Given the description of an element on the screen output the (x, y) to click on. 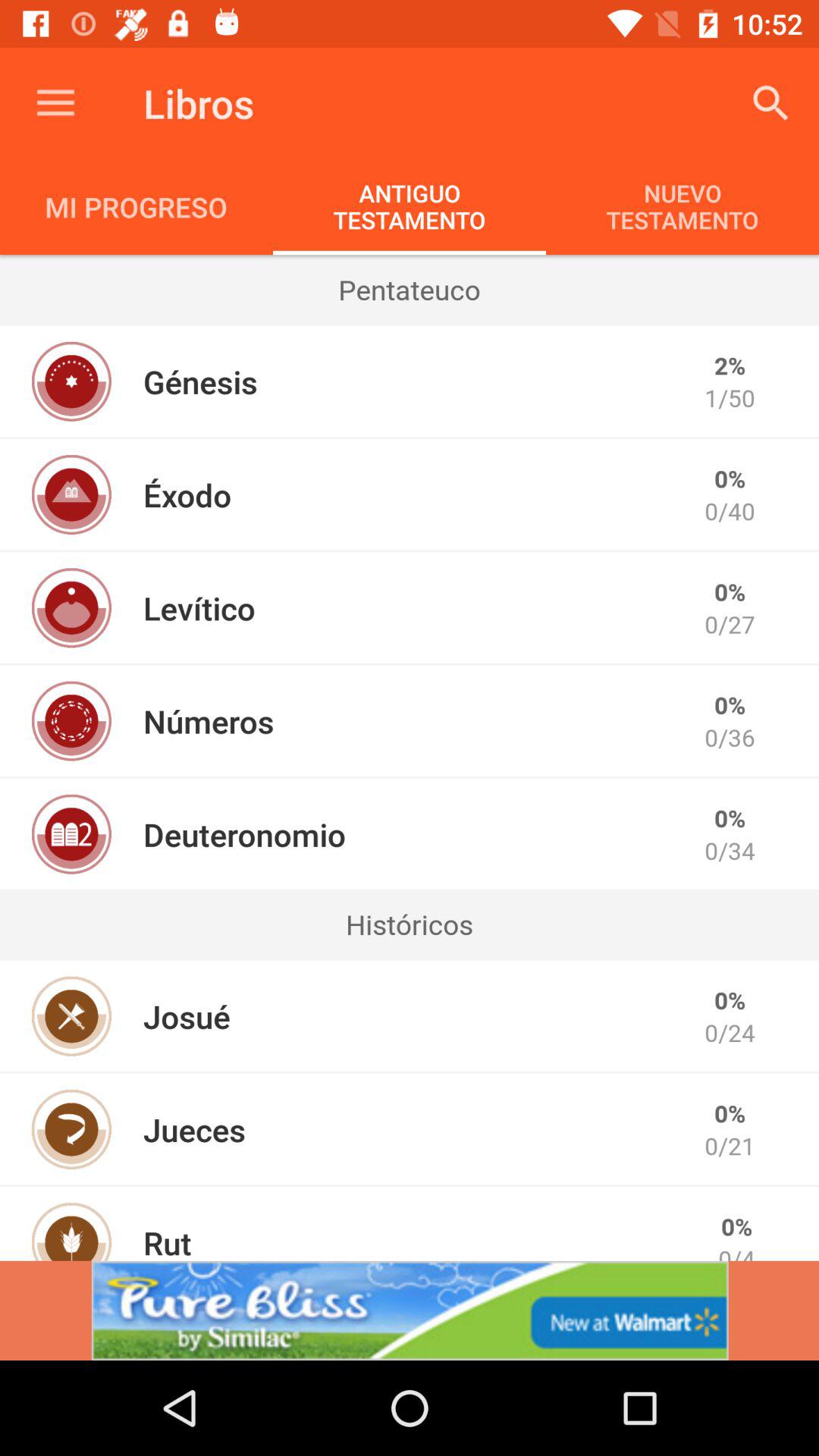
press icon next to the libros (771, 103)
